Given the description of an element on the screen output the (x, y) to click on. 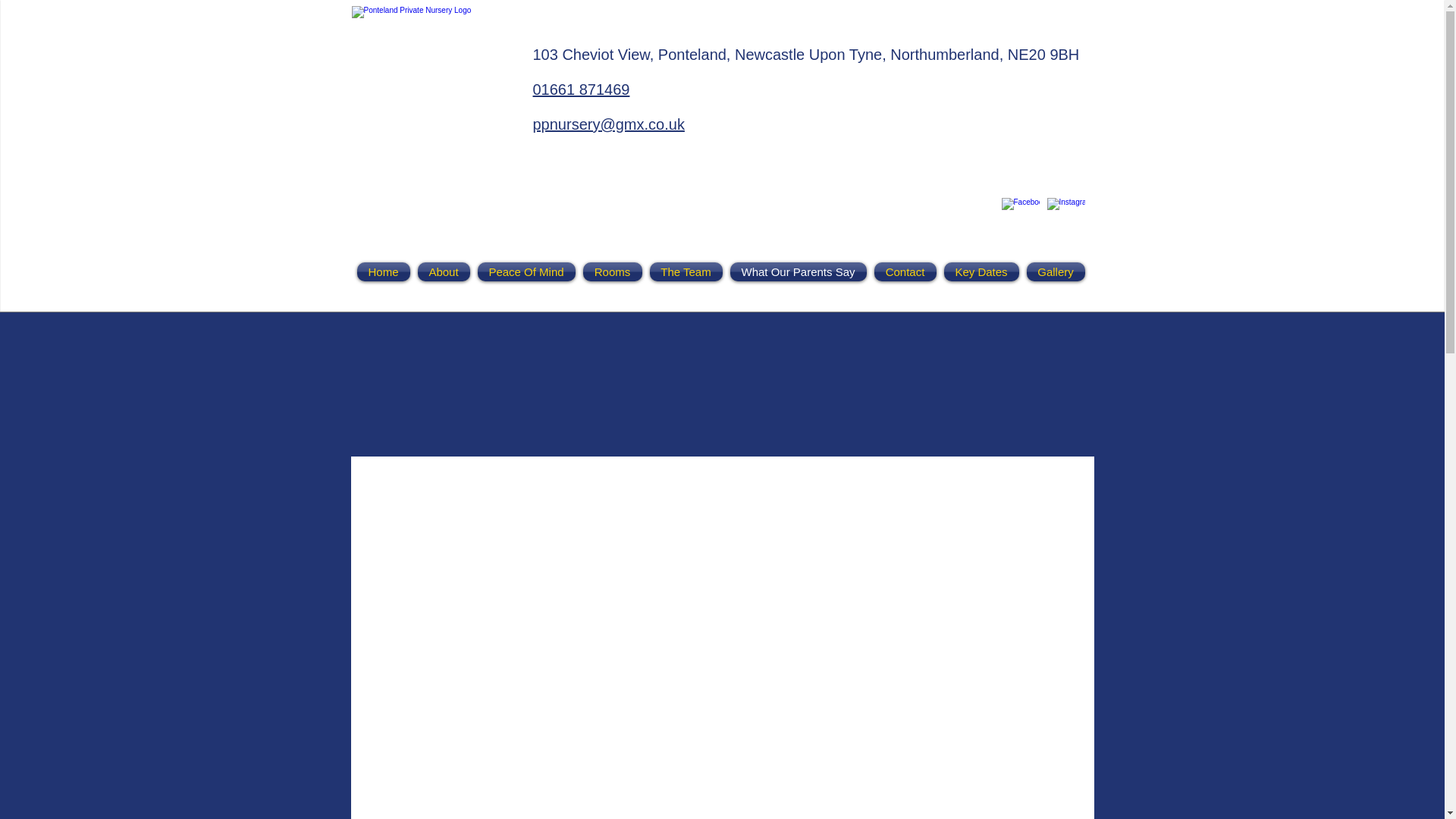
Rooms (612, 271)
Key Dates (981, 271)
What Our Parents Say (798, 271)
The Team (686, 271)
Gallery (1053, 271)
Contact (905, 271)
01661 871469 (580, 89)
Peace Of Mind (525, 271)
Home (384, 271)
About (443, 271)
